Given the description of an element on the screen output the (x, y) to click on. 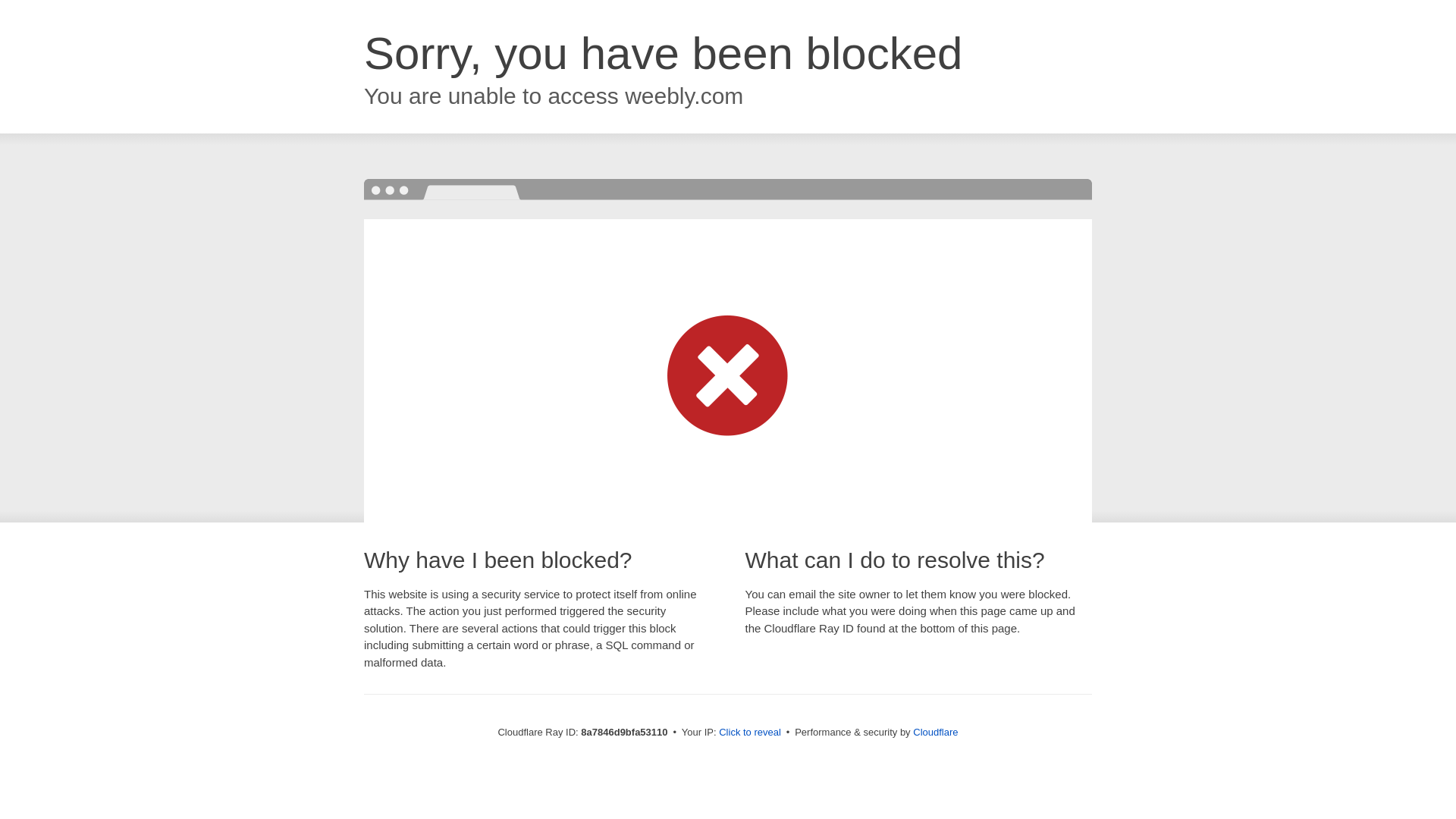
Cloudflare (935, 731)
Click to reveal (749, 732)
